Given the description of an element on the screen output the (x, y) to click on. 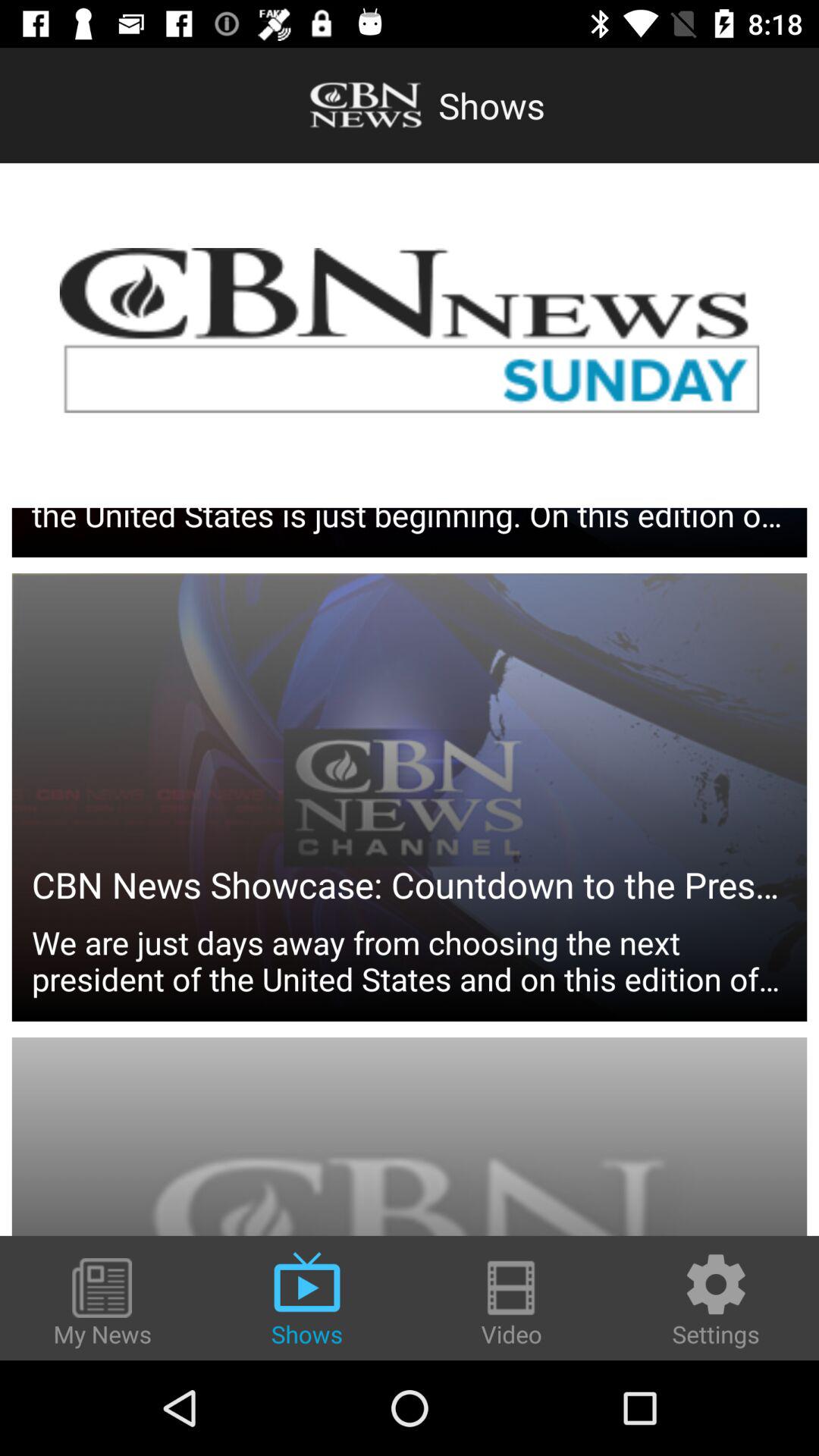
jump to we are just item (409, 833)
